Given the description of an element on the screen output the (x, y) to click on. 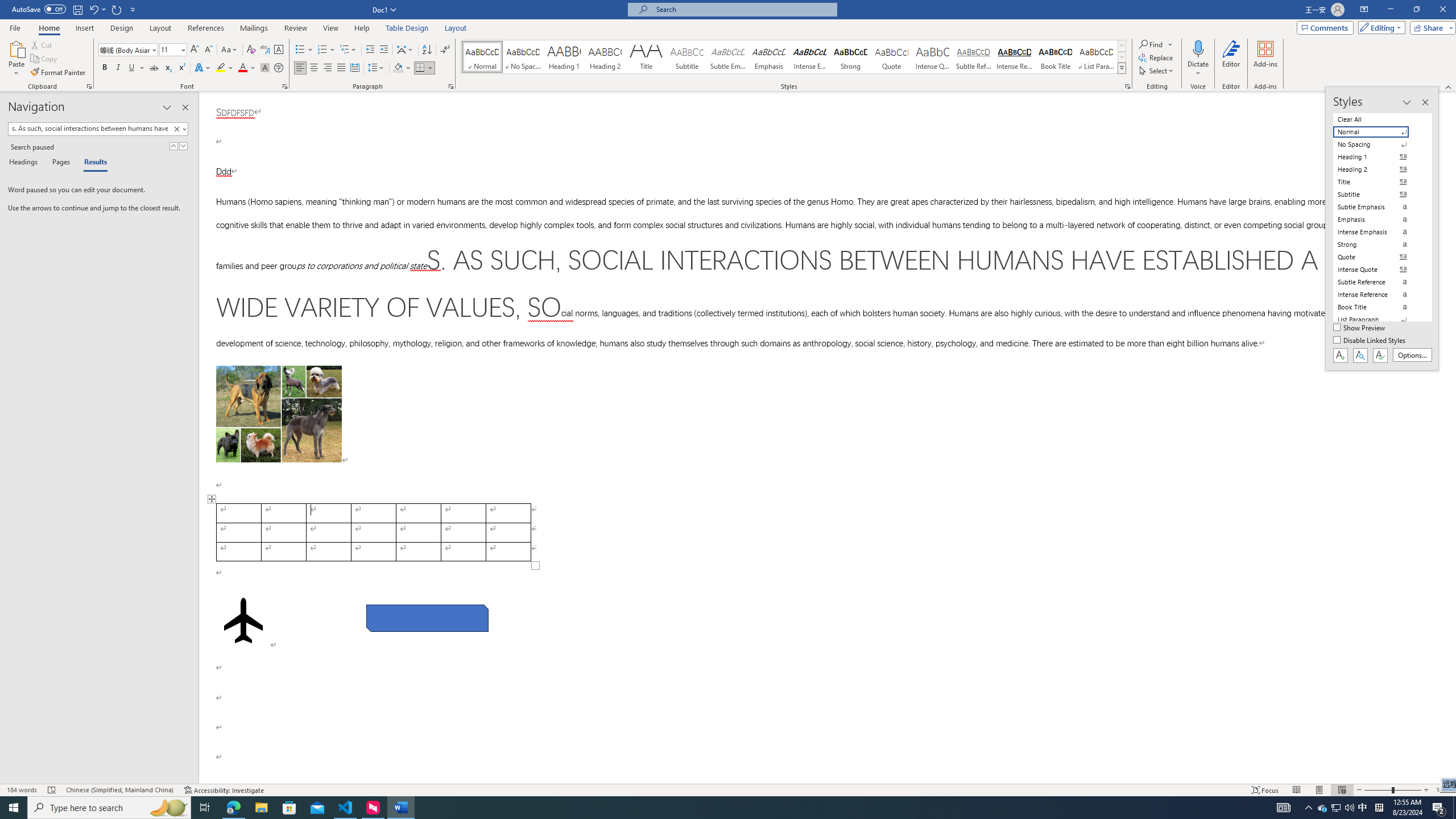
Shrink Font (208, 49)
Repeat Style (117, 9)
Heading 1 (564, 56)
Copy (45, 58)
Class: MsoCommandBar (728, 45)
Superscript (180, 67)
Align Left (300, 67)
Zoom (1392, 790)
Select (1157, 69)
